Given the description of an element on the screen output the (x, y) to click on. 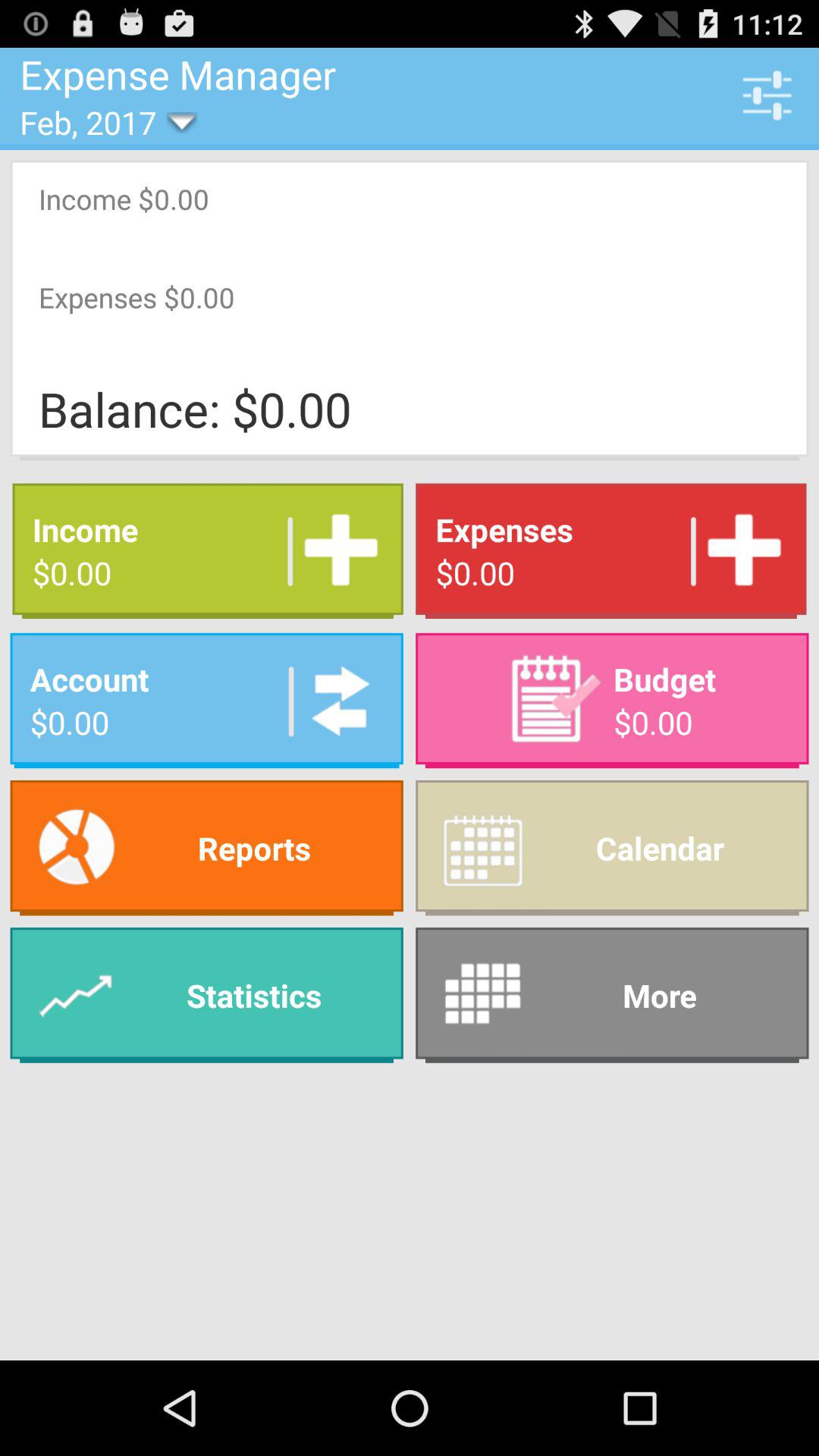
swipe until the feb, 2017 icon (98, 121)
